Given the description of an element on the screen output the (x, y) to click on. 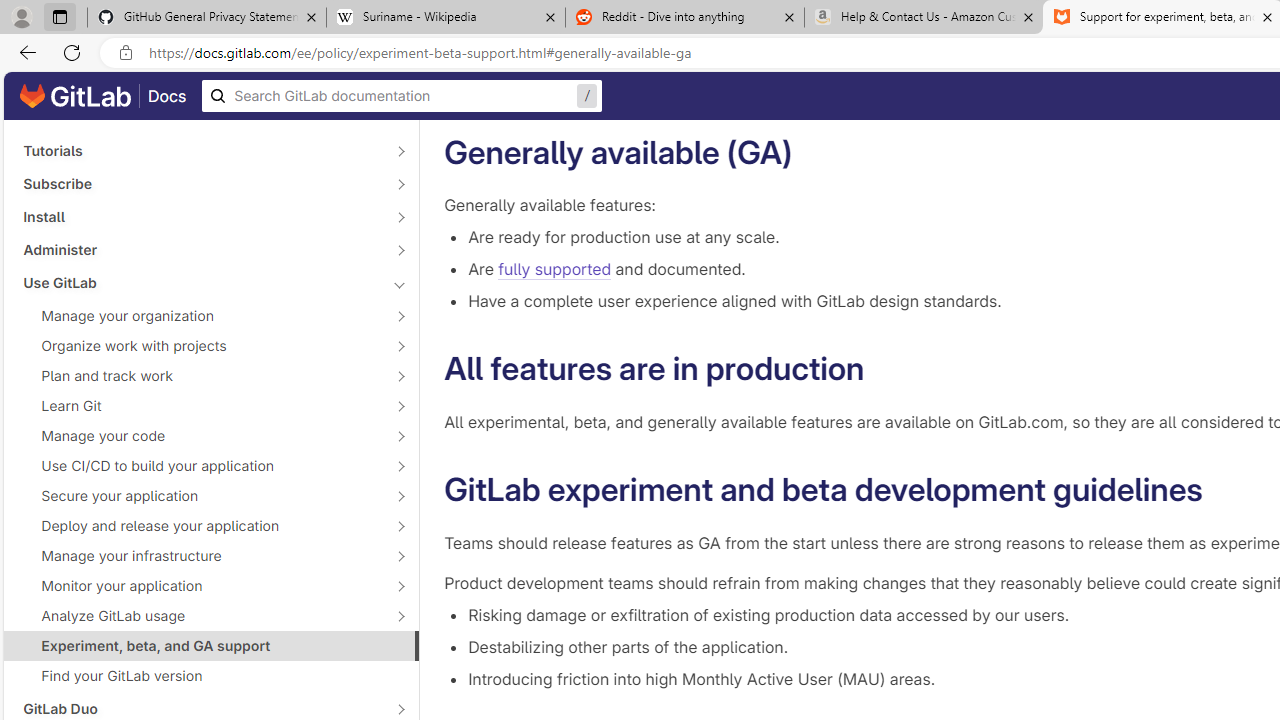
Tutorials (199, 151)
Plan and track work (199, 375)
Find your GitLab version (211, 675)
Subscribe (199, 183)
Install (199, 216)
Use GitLab (199, 282)
GitHub General Privacy Statement - GitHub Docs (207, 17)
Suriname - Wikipedia (445, 17)
Experiment, beta, and GA support (211, 645)
GitLab documentation home Docs (103, 96)
Administer (199, 249)
Manage your infrastructure (199, 555)
